Given the description of an element on the screen output the (x, y) to click on. 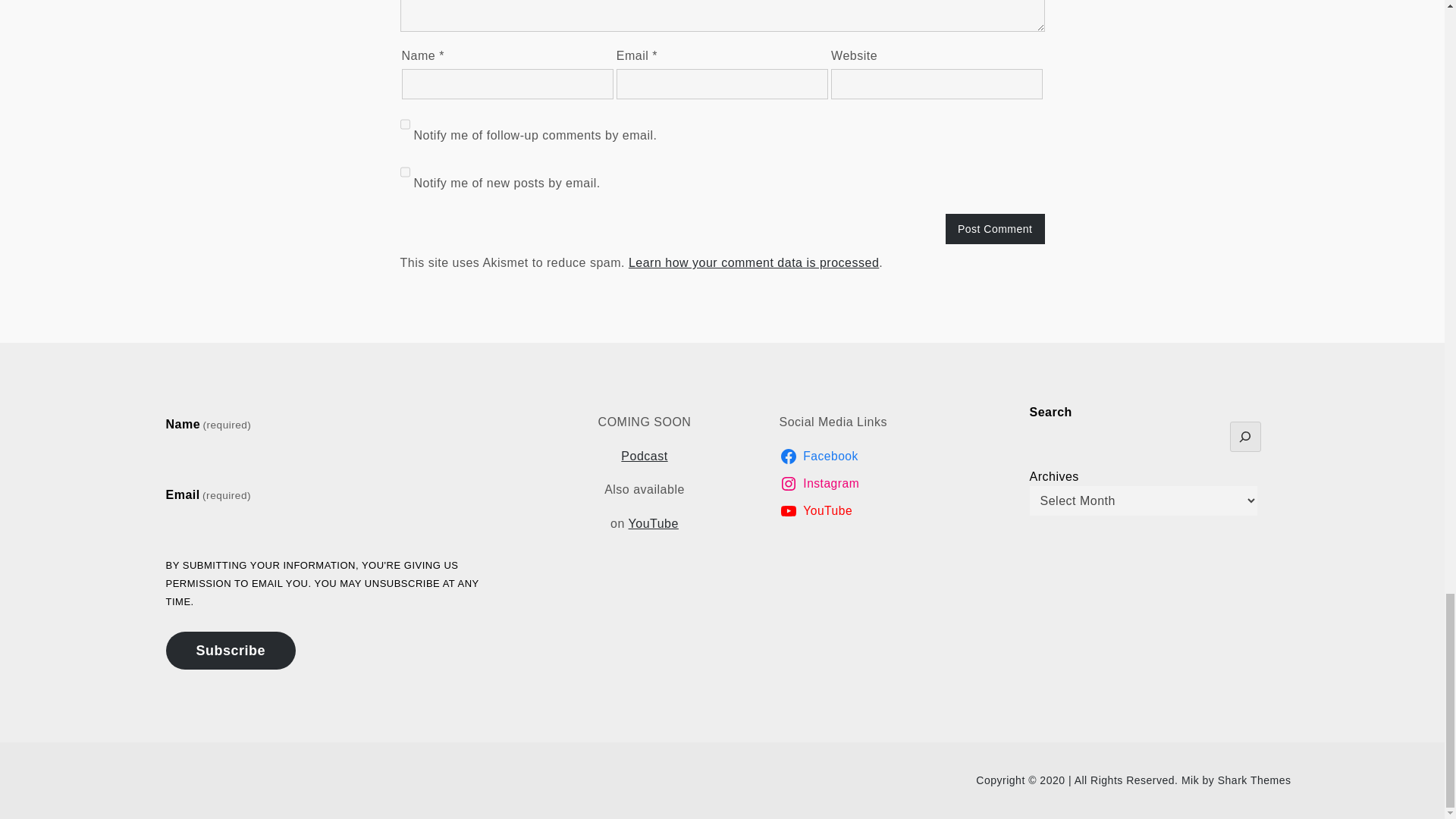
Post Comment (994, 228)
Subscribe (230, 650)
Post Comment (994, 228)
YouTube (894, 511)
Facebook (894, 456)
YouTube (653, 522)
Podcast (643, 455)
Instagram (894, 484)
Learn how your comment data is processed (753, 262)
